Given the description of an element on the screen output the (x, y) to click on. 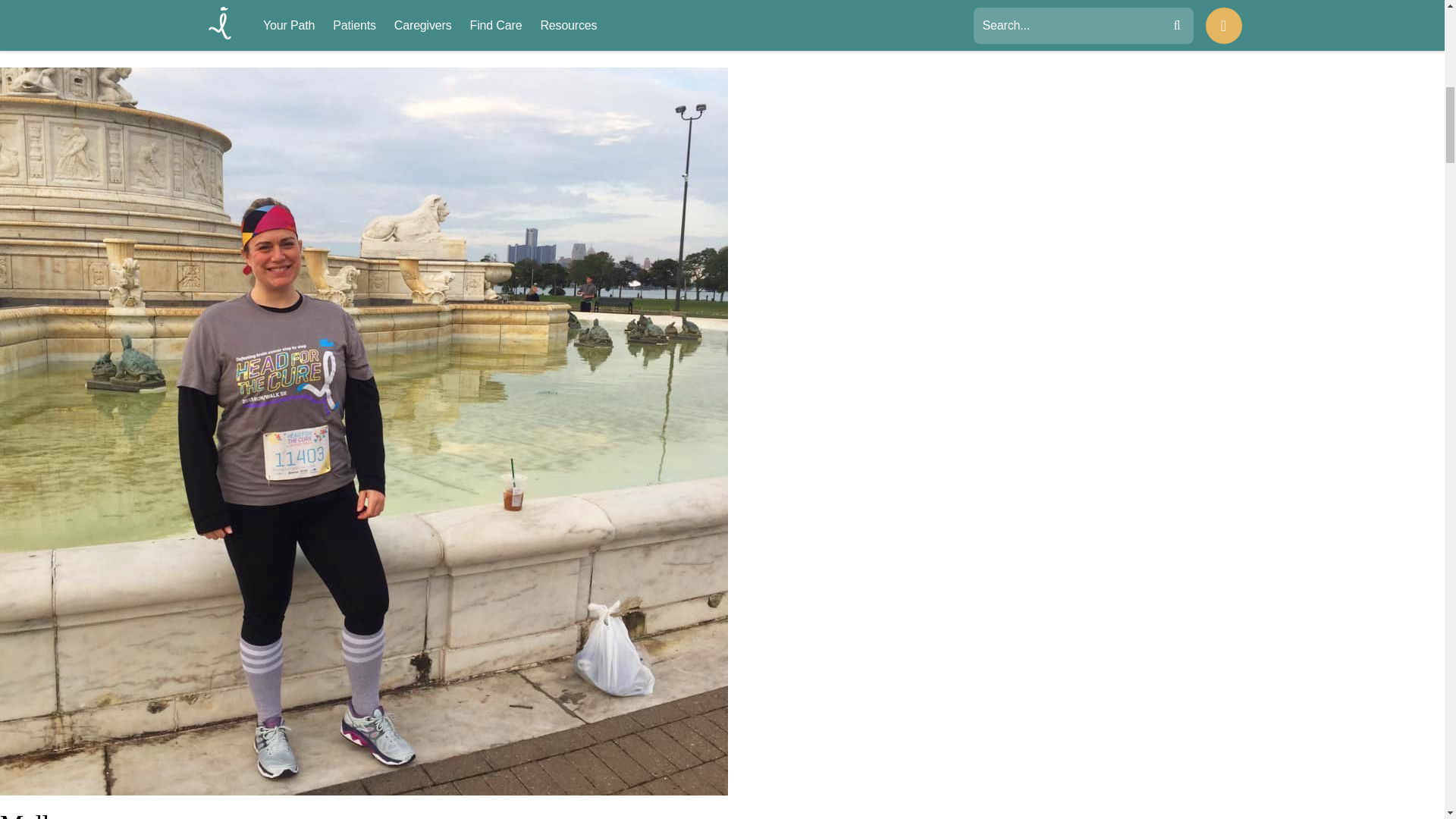
Message Lisa (37, 48)
